Given the description of an element on the screen output the (x, y) to click on. 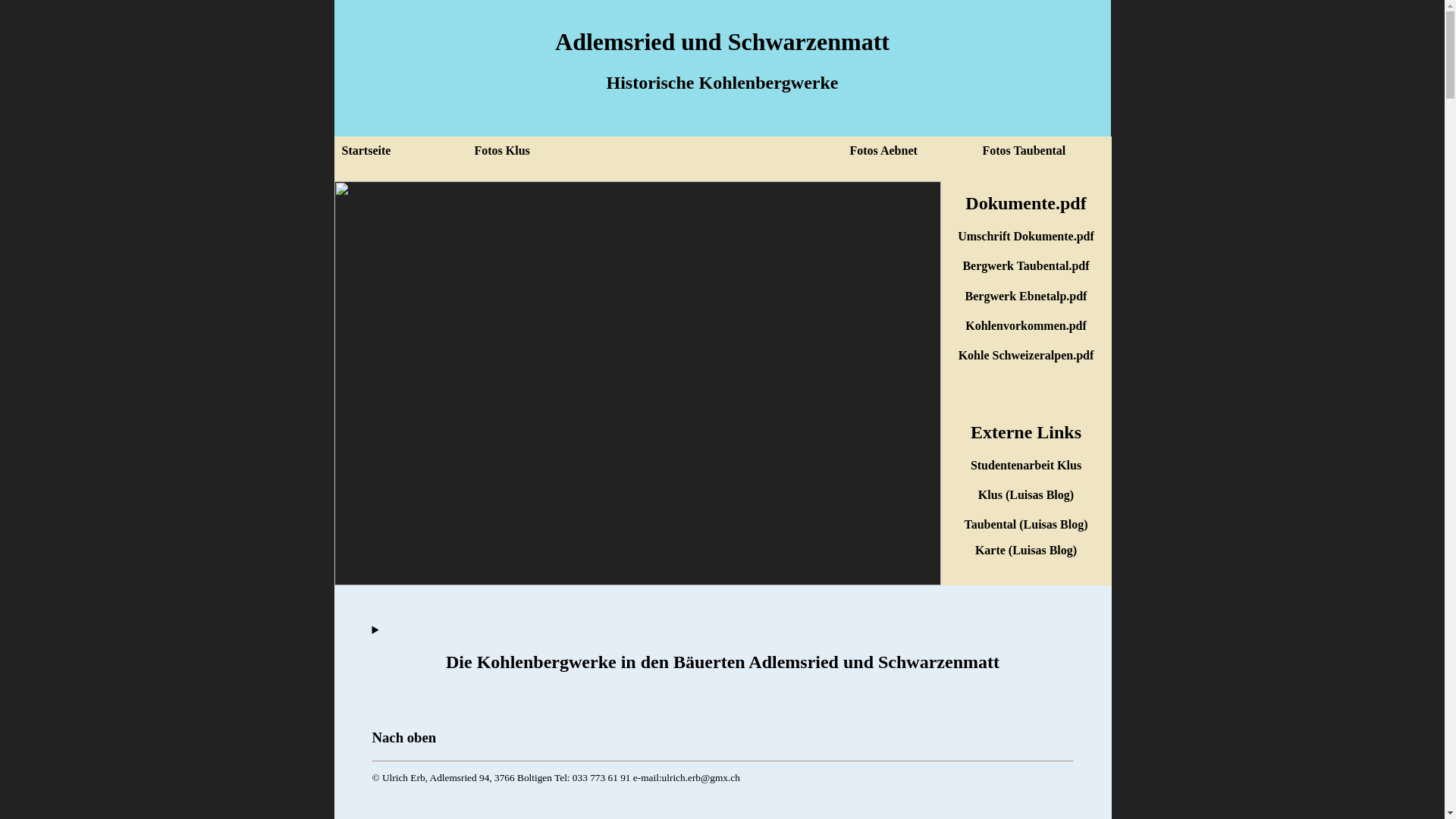
Fotos Aebnet Element type: text (909, 150)
Taubental (Luisas Blog) Element type: text (1025, 523)
Kohlenvorkommen.pdf Element type: text (1025, 325)
Fotos Klus Element type: text (656, 150)
Studentenarbeit Klus Element type: text (1025, 464)
Startseite Element type: text (401, 150)
Bergwerk Ebnetalp.pdf Element type: text (1026, 295)
Kohle Schweizeralpen.pdf Element type: text (1026, 354)
Klus (Luisas Blog) Element type: text (1025, 494)
Nach oben Element type: text (722, 737)
Fotos Taubental Element type: text (1043, 150)
Umschrift Dokumente.pdf Element type: text (1025, 235)
Bergwerk Taubental.pdf Element type: text (1025, 265)
Karte (Luisas Blog) Element type: text (1025, 549)
